Given the description of an element on the screen output the (x, y) to click on. 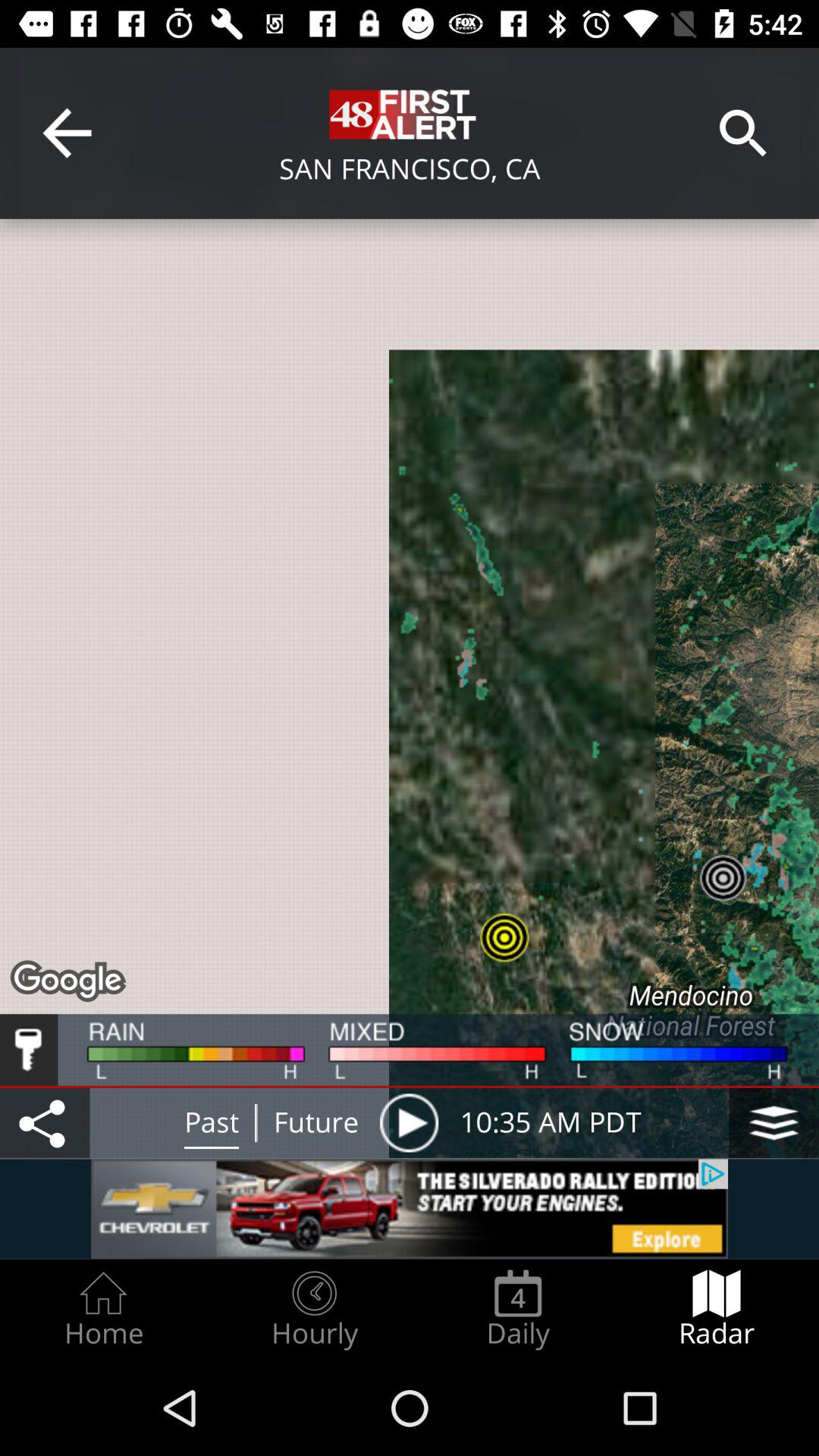
play future radar (409, 1122)
